Given the description of an element on the screen output the (x, y) to click on. 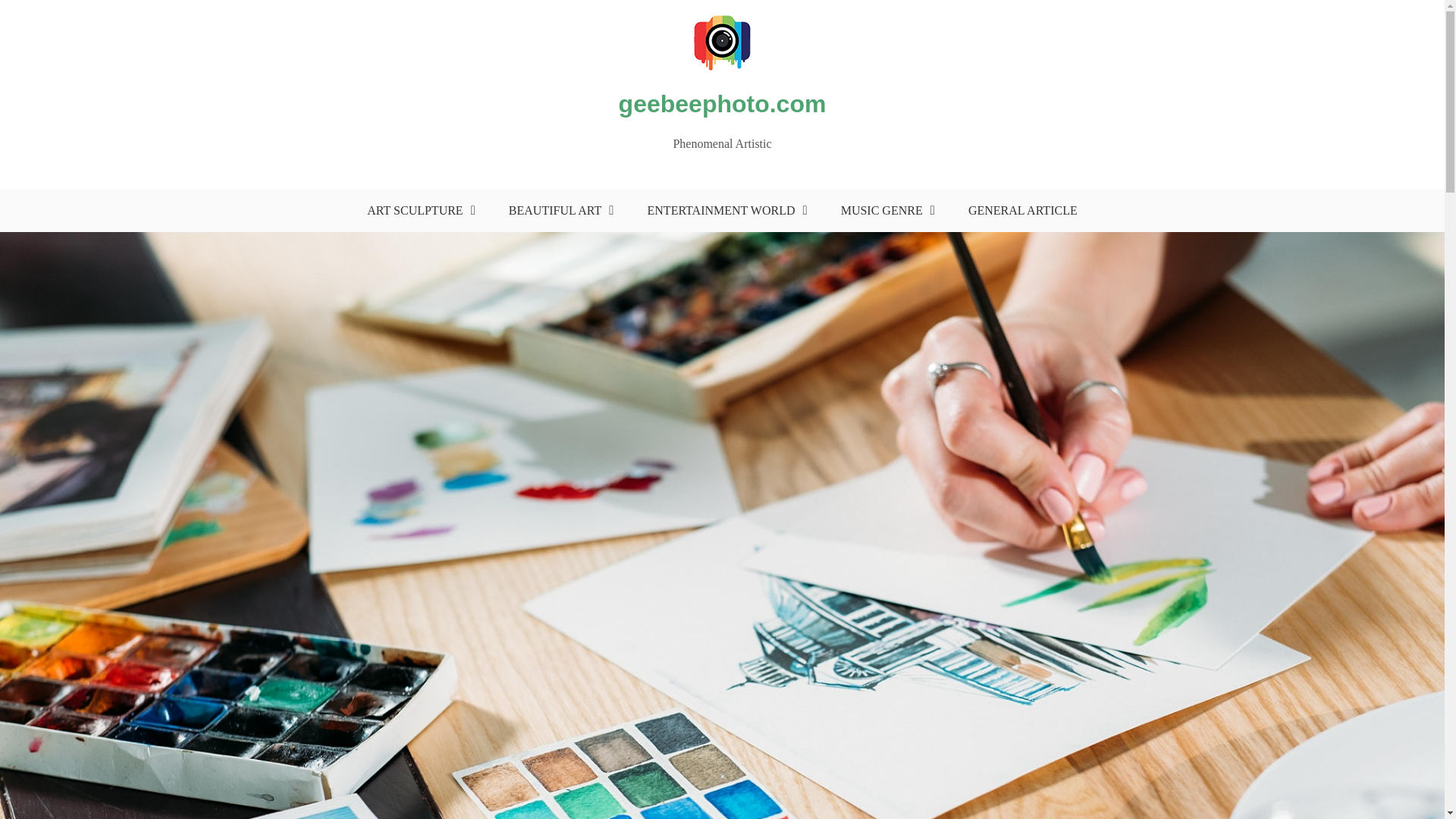
geebeephoto.com (722, 103)
ENTERTAINMENT WORLD (723, 210)
GENERAL ARTICLE (1022, 210)
BEAUTIFUL ART (557, 210)
MUSIC GENRE (884, 210)
ART SCULPTURE (417, 210)
